Given the description of an element on the screen output the (x, y) to click on. 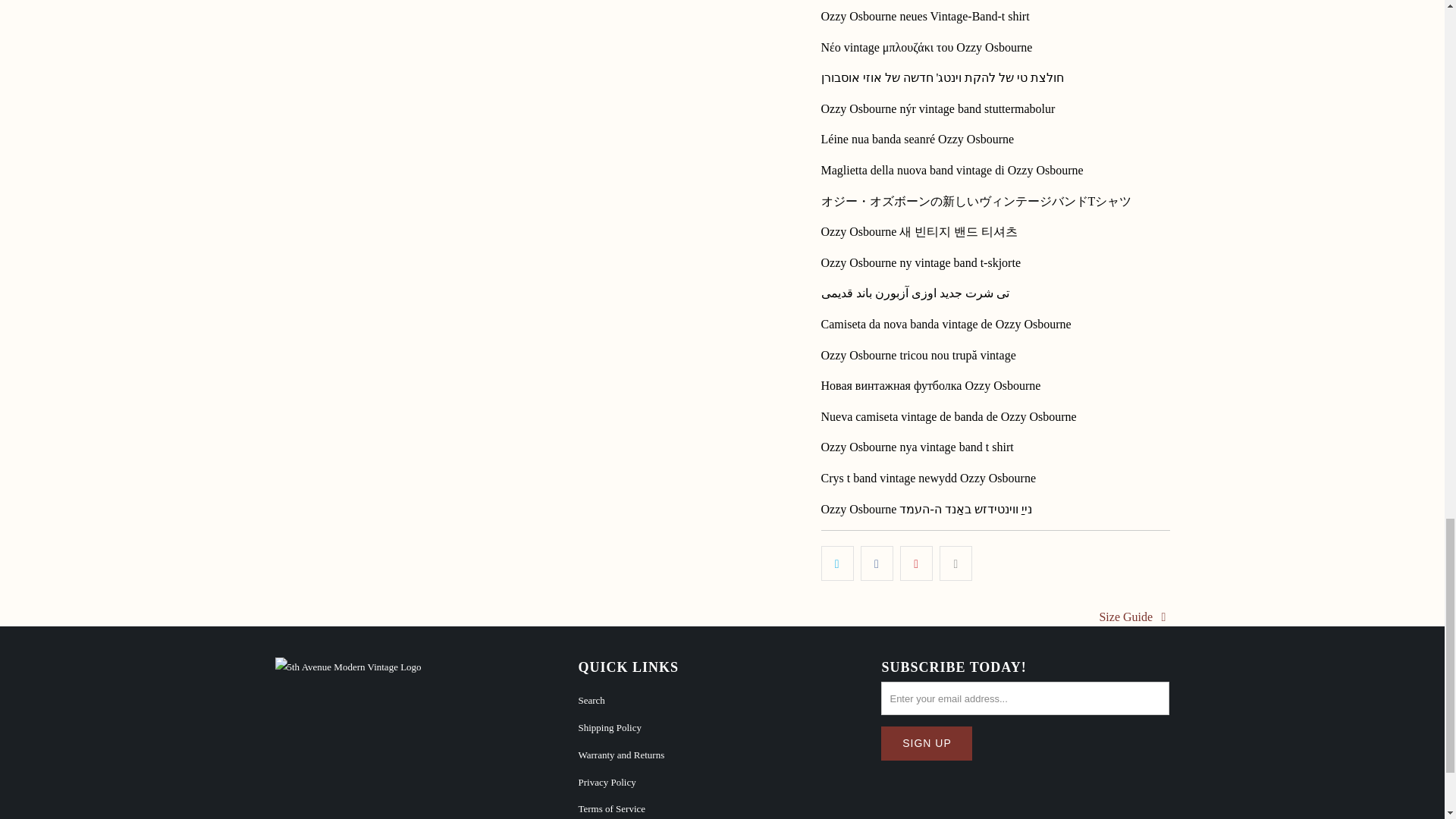
Sign Up (926, 743)
Email this to a friend (955, 563)
Share this on Twitter (837, 563)
Share this on Facebook (876, 563)
Share this on Pinterest (916, 563)
